Given the description of an element on the screen output the (x, y) to click on. 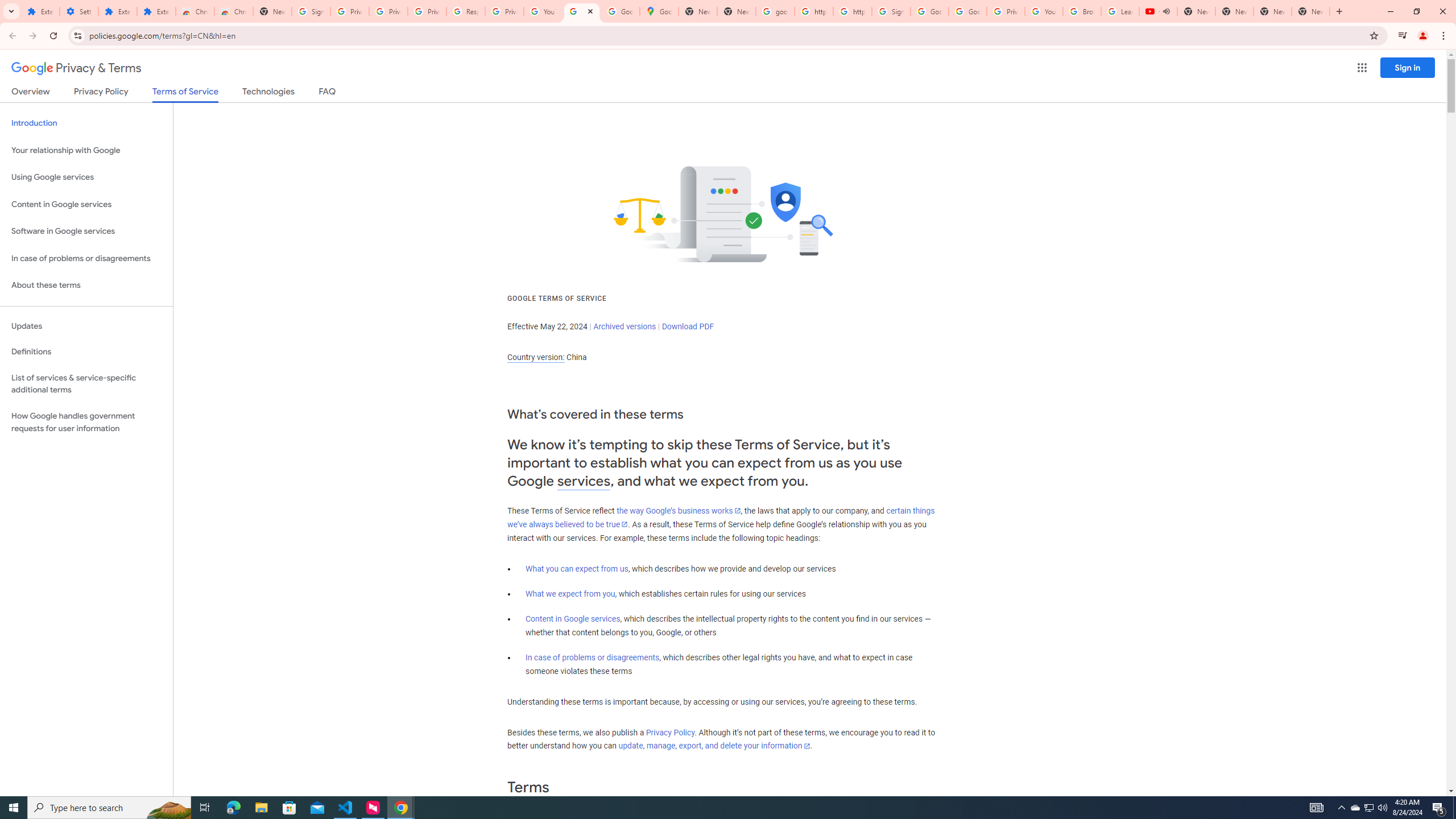
Your relationship with Google (86, 150)
Software in Google services (86, 230)
update, manage, export, and delete your information (714, 746)
Extensions (40, 11)
What you can expect from us (576, 568)
